Given the description of an element on the screen output the (x, y) to click on. 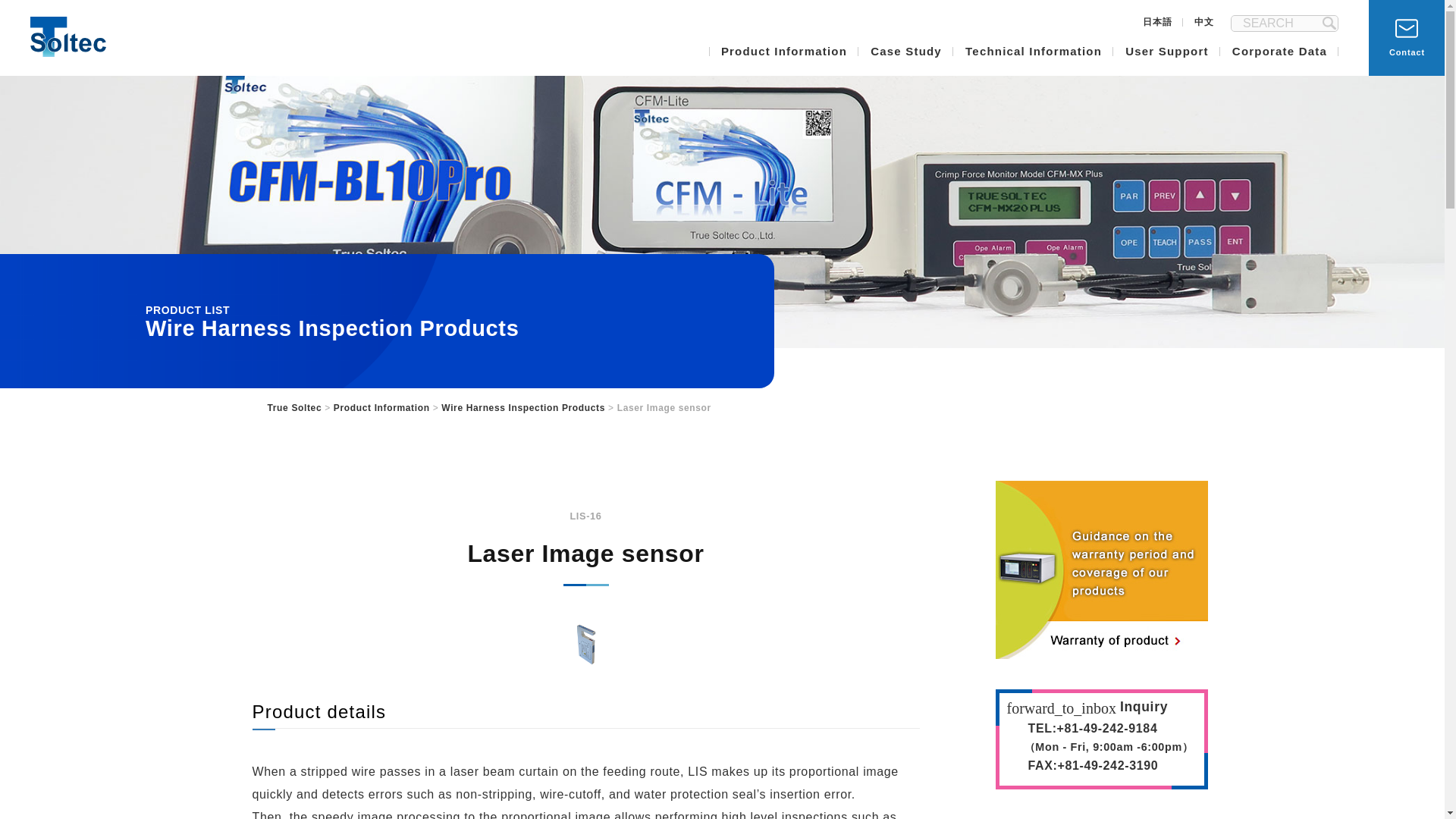
Go to True Soltec. (293, 407)
Go to the Wire Harness Inspection Products archives. (523, 407)
Technical Information (1033, 60)
Product Information (784, 60)
User Support (1166, 60)
Corporate Data (1279, 60)
Case Study (906, 60)
Go to Product Information. (381, 407)
